Given the description of an element on the screen output the (x, y) to click on. 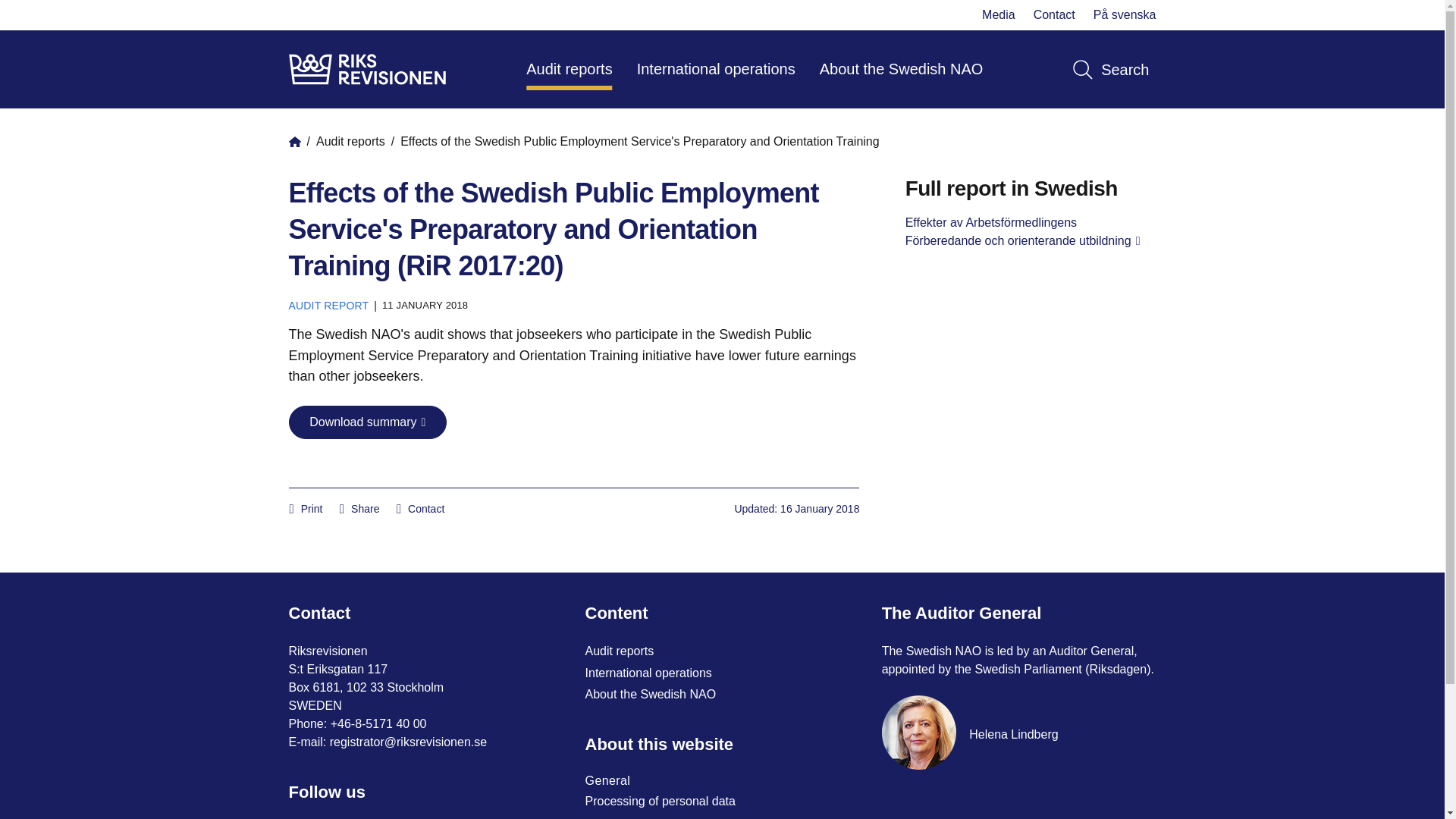
Media (997, 14)
Search (1110, 68)
Print (305, 509)
Contact (1054, 14)
About the Swedish NAO (901, 69)
Audit reports (568, 69)
International operations (716, 69)
Share (359, 509)
Contact (420, 509)
